Given the description of an element on the screen output the (x, y) to click on. 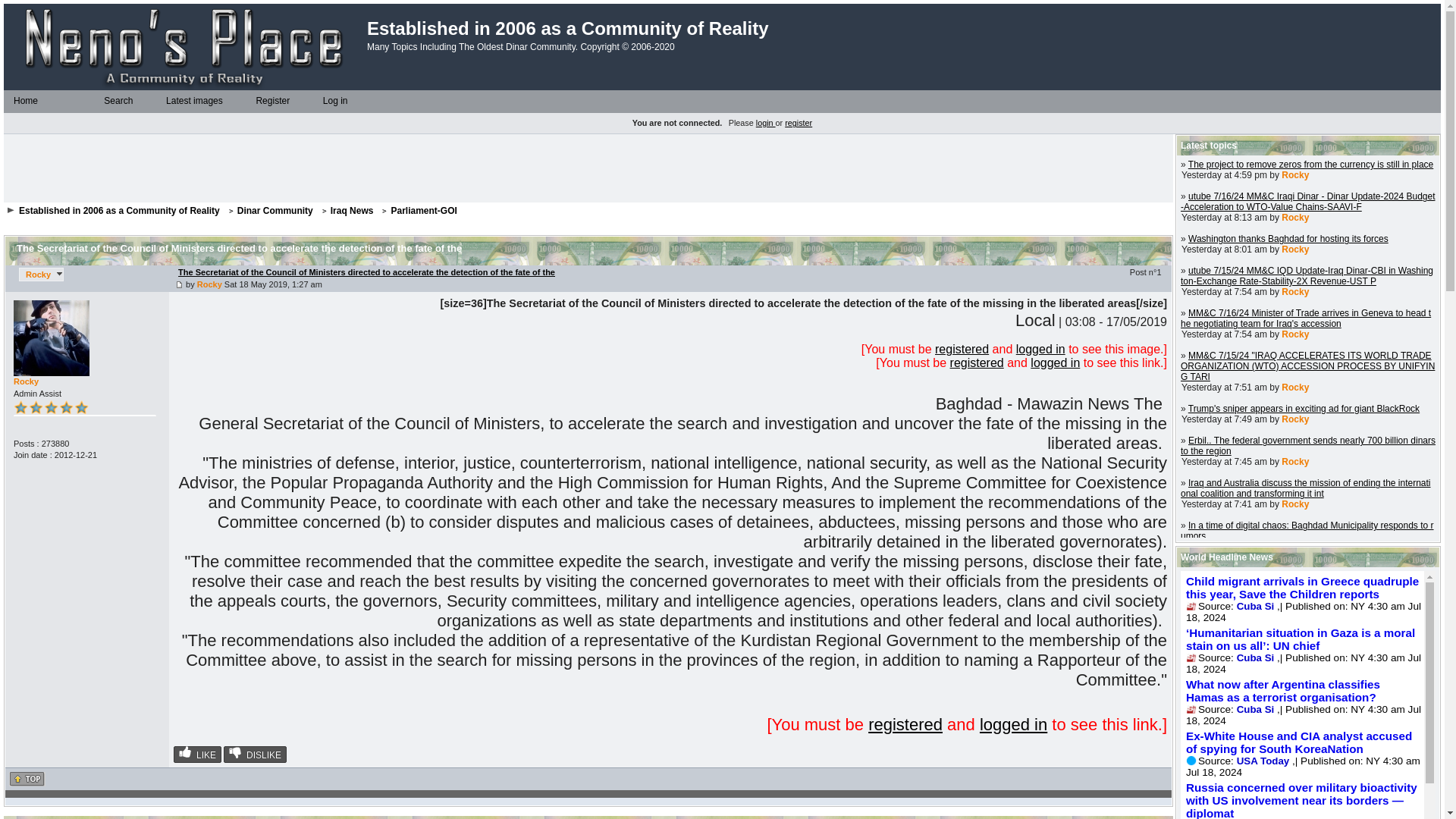
Log in (334, 101)
Home (8, 101)
Established in 2006 as a Community of Reality (185, 47)
Dinar Community (275, 210)
Parliament-GOI (423, 210)
logged in (1040, 349)
Washington thanks Baghdad for hosting its forces (1288, 238)
Register (251, 101)
Post (178, 284)
Latest images (160, 101)
Search (117, 101)
LIKE (197, 754)
registered (904, 723)
DISLIKE (255, 754)
